Given the description of an element on the screen output the (x, y) to click on. 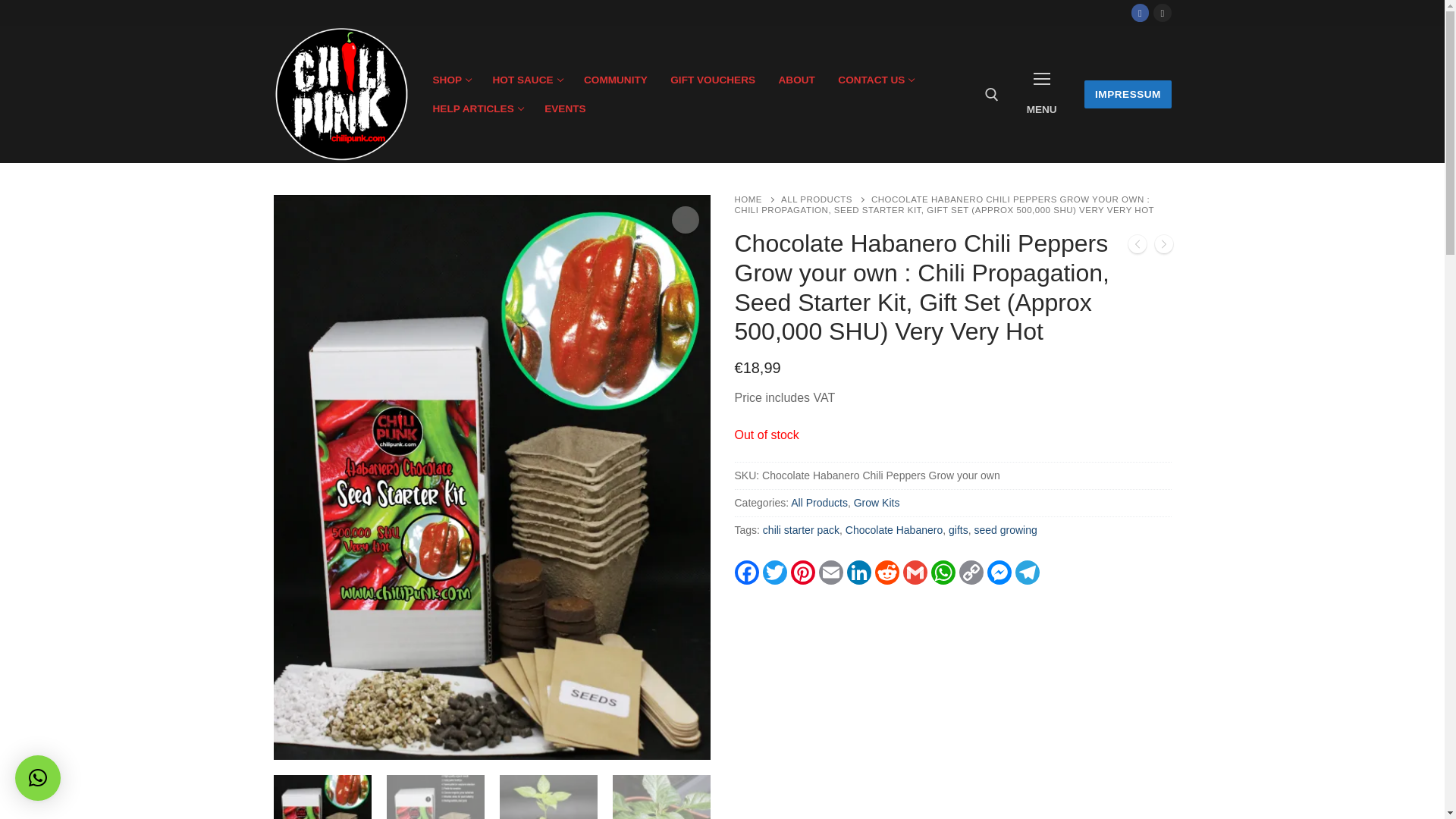
ABOUT (796, 80)
HOME (525, 80)
IMPRESSUM (477, 108)
Instagram (756, 198)
GIFT VOUCHERS (1127, 94)
EVENTS (1162, 12)
MENU (713, 80)
